Given the description of an element on the screen output the (x, y) to click on. 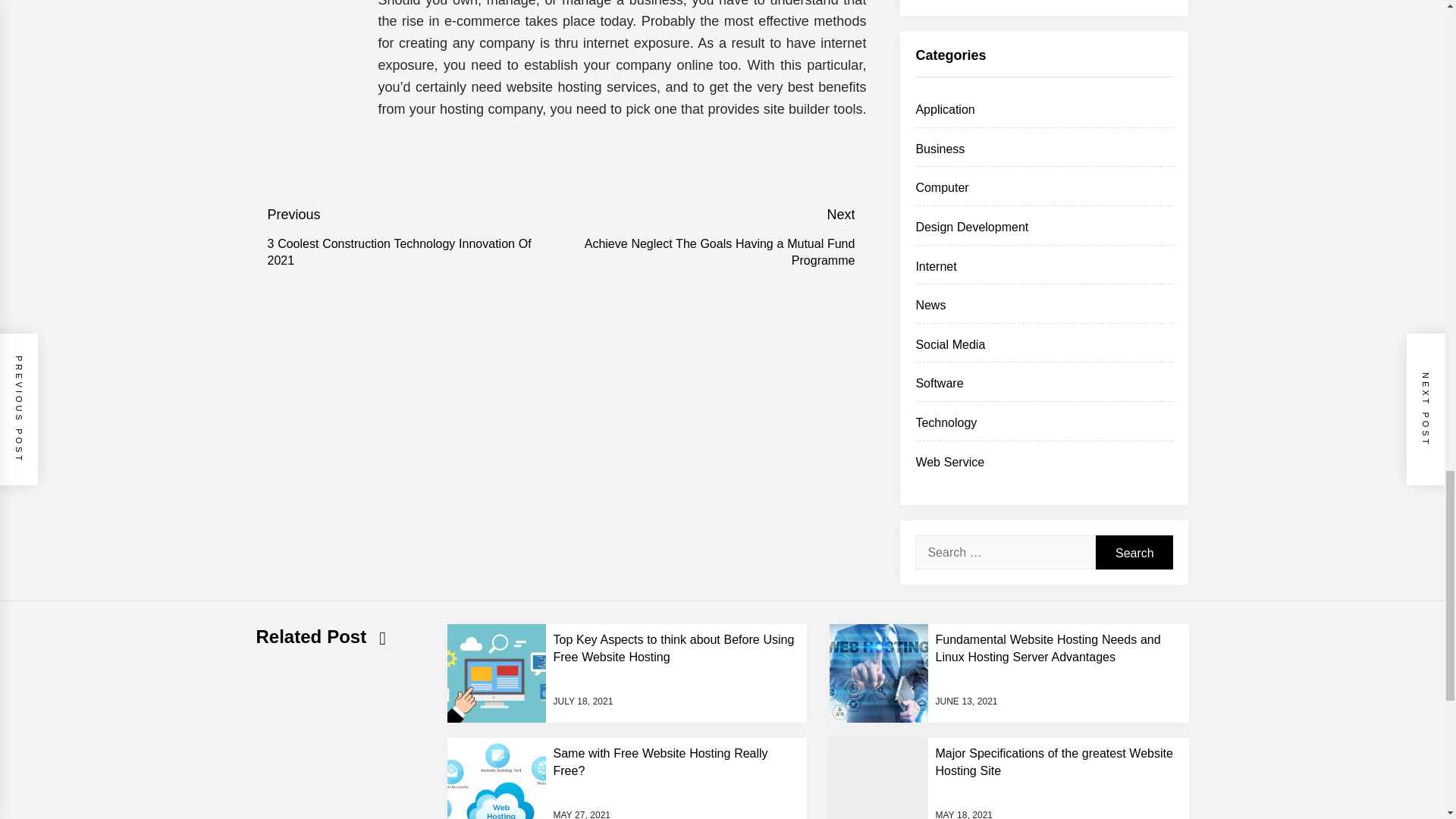
Search (1134, 552)
Search (1134, 552)
